Given the description of an element on the screen output the (x, y) to click on. 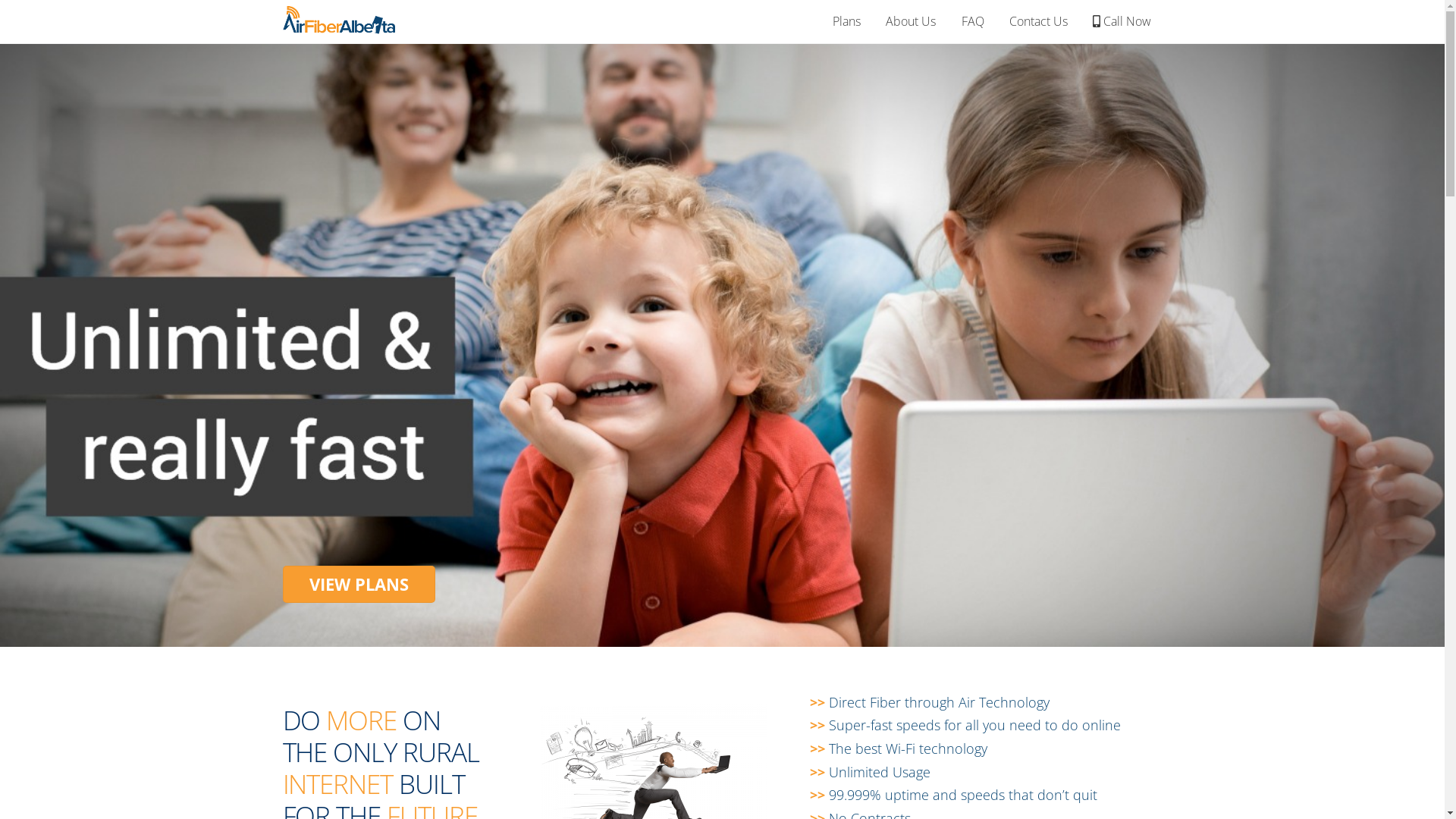
Call Now Element type: text (1121, 20)
About Us Element type: text (910, 20)
AirFiber Alberta Element type: hover (338, 18)
Plans Element type: text (846, 20)
VIEW PLANS Element type: text (358, 584)
Contact Us Element type: text (1037, 20)
FAQ Element type: text (972, 20)
AirFiber Alberta Element type: hover (338, 25)
